Given the description of an element on the screen output the (x, y) to click on. 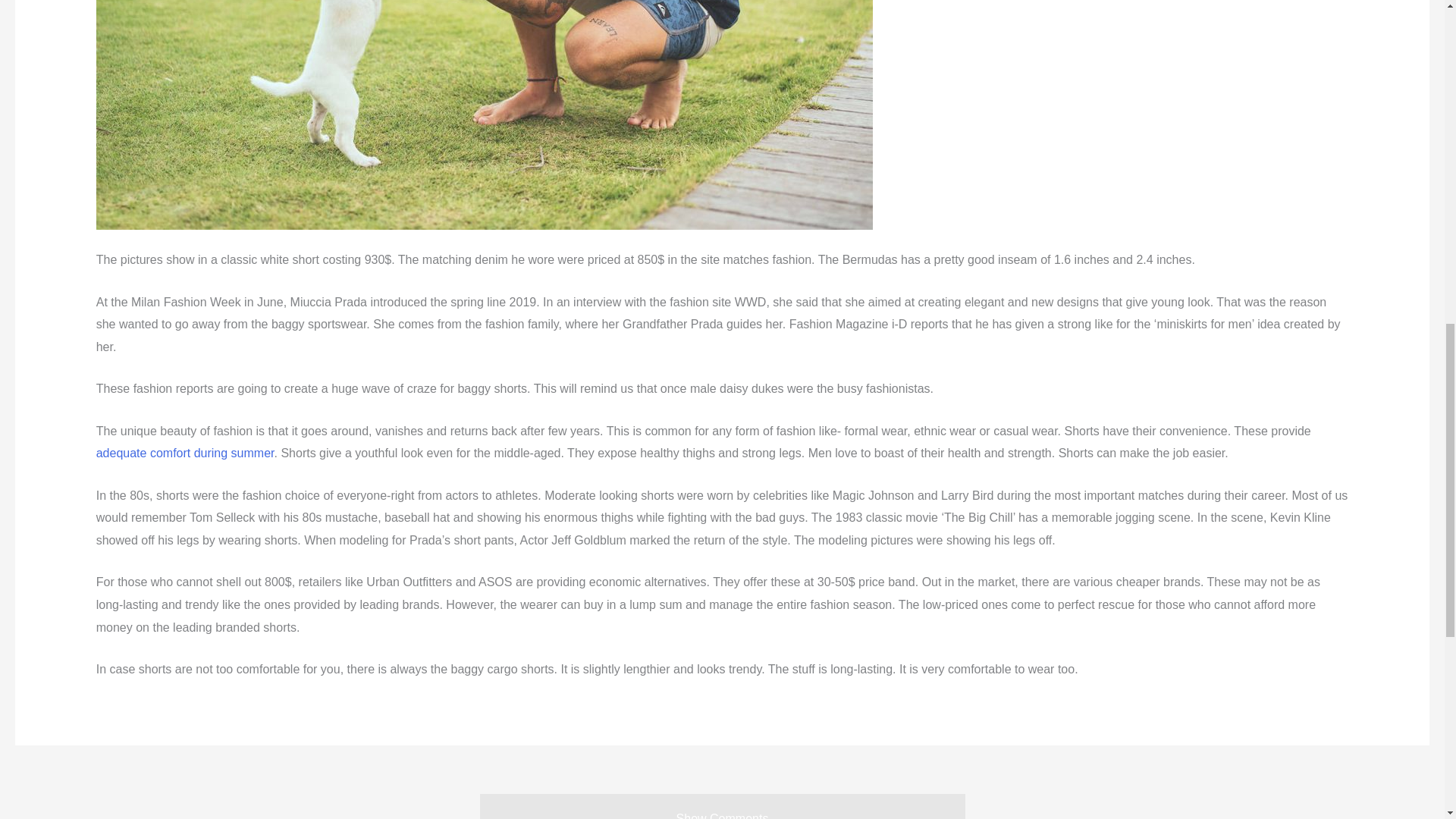
adequate comfort during summer (185, 452)
